Given the description of an element on the screen output the (x, y) to click on. 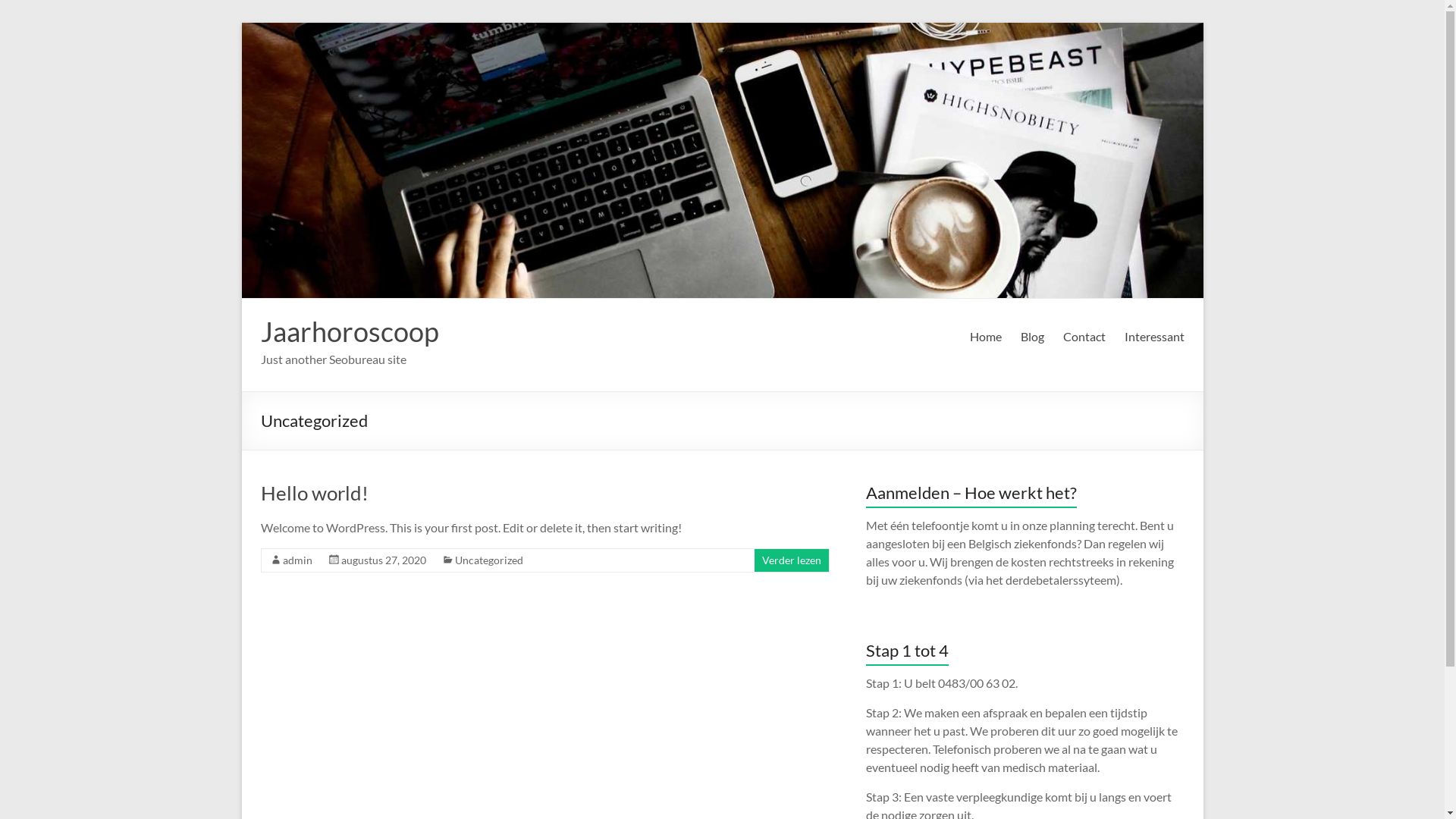
Uncategorized Element type: text (489, 559)
Ga naar inhoud Element type: text (241, 21)
Interessant Element type: text (1153, 336)
augustus 27, 2020 Element type: text (383, 559)
Jaarhoroscoop Element type: text (349, 331)
Verder lezen Element type: text (790, 559)
admin Element type: text (296, 559)
Contact Element type: text (1084, 336)
Blog Element type: text (1032, 336)
Hello world! Element type: text (314, 492)
Home Element type: text (985, 336)
